Given the description of an element on the screen output the (x, y) to click on. 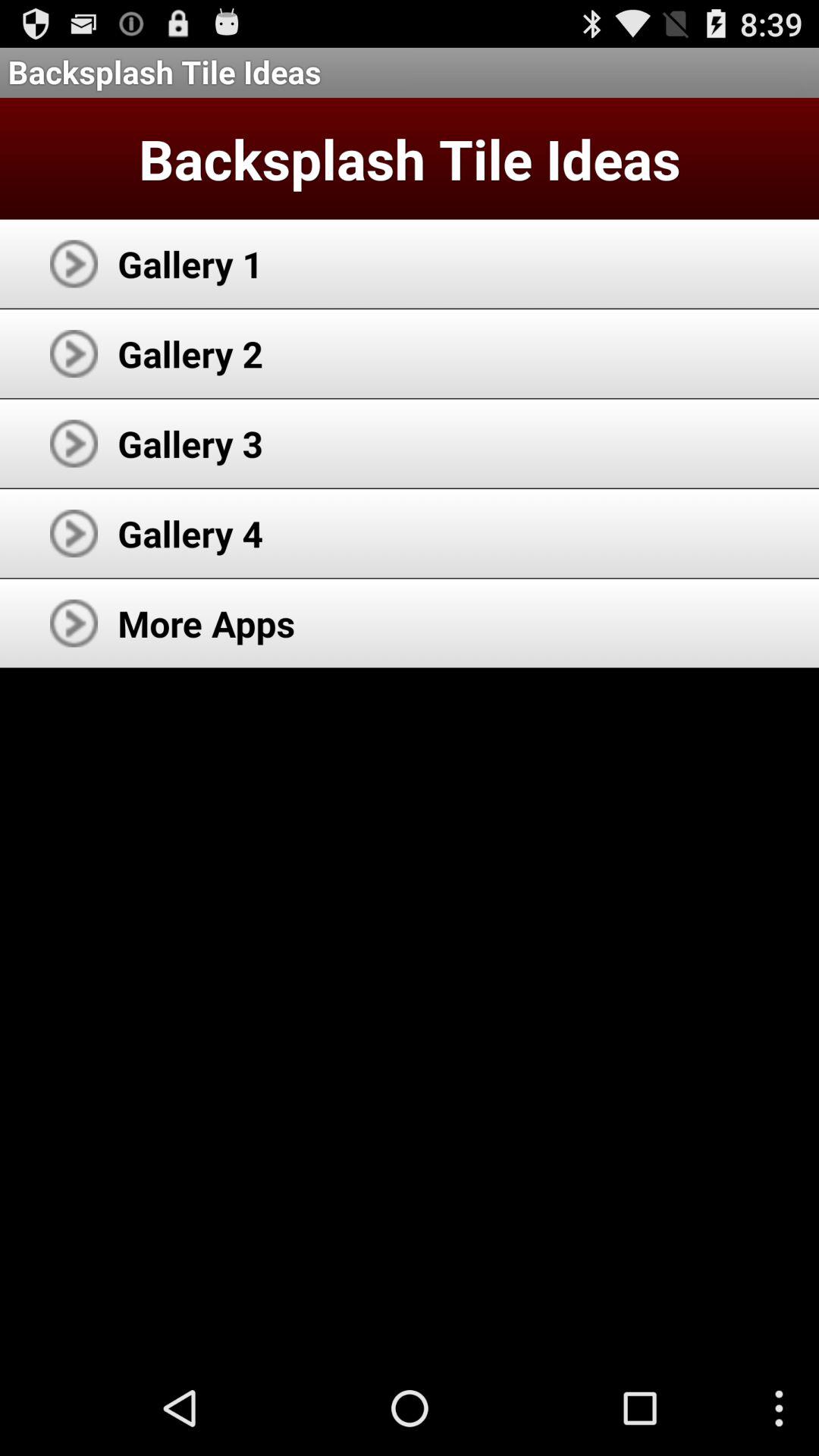
press the icon above gallery 4 app (190, 443)
